Given the description of an element on the screen output the (x, y) to click on. 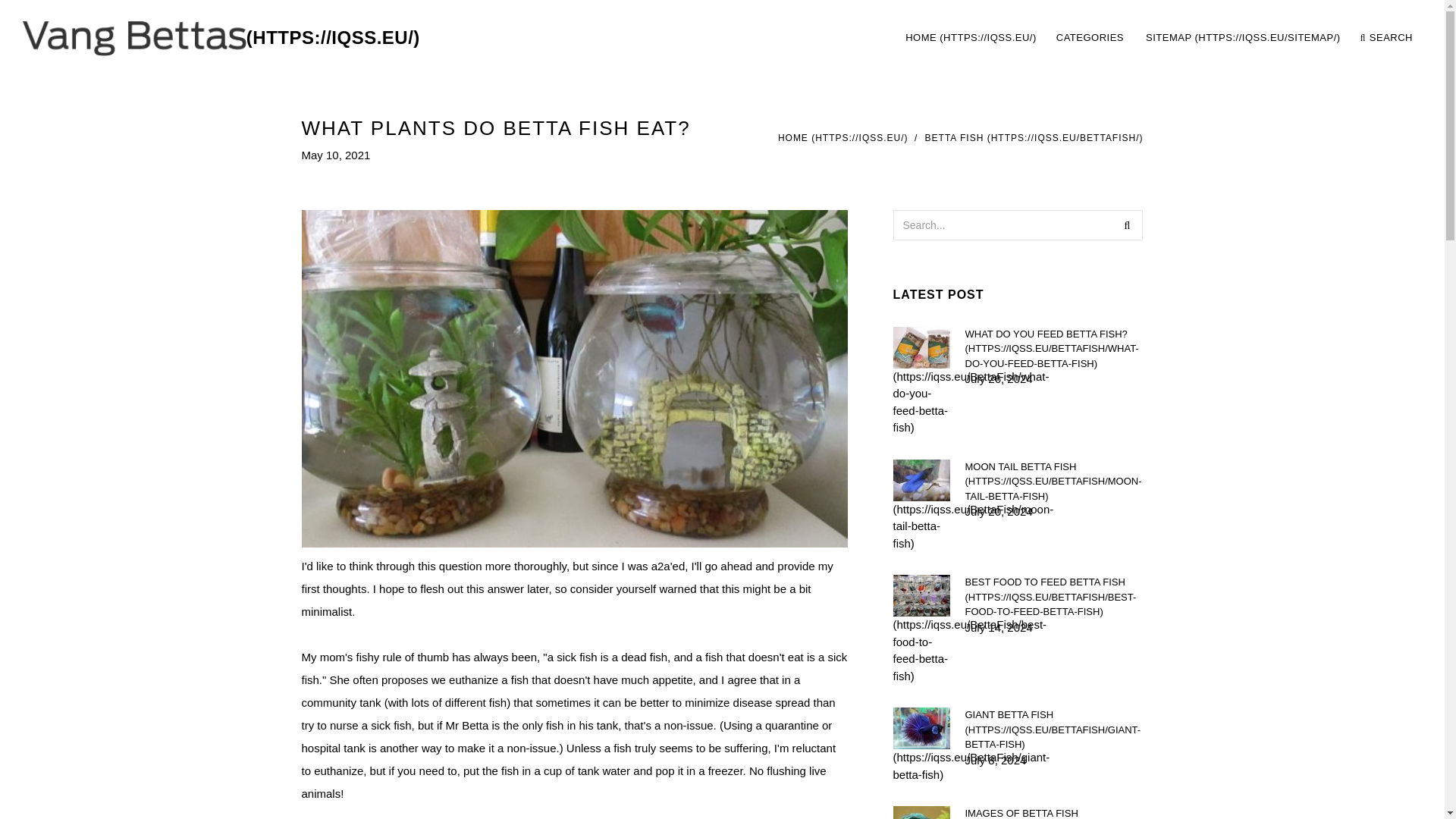
CATEGORIES (1090, 38)
BETTA FISH (1033, 137)
SEARCH (1386, 38)
SITEMAP (1243, 38)
GIANT BETTA FISH (1052, 729)
HOME (842, 137)
BEST FOOD TO FEED BETTA FISH (1052, 596)
HOME (1158, 38)
Search (970, 38)
WHAT DO YOU FEED BETTA FISH? (1126, 224)
MOON TAIL BETTA FISH (1052, 348)
Vang Bettas (1052, 481)
